Given the description of an element on the screen output the (x, y) to click on. 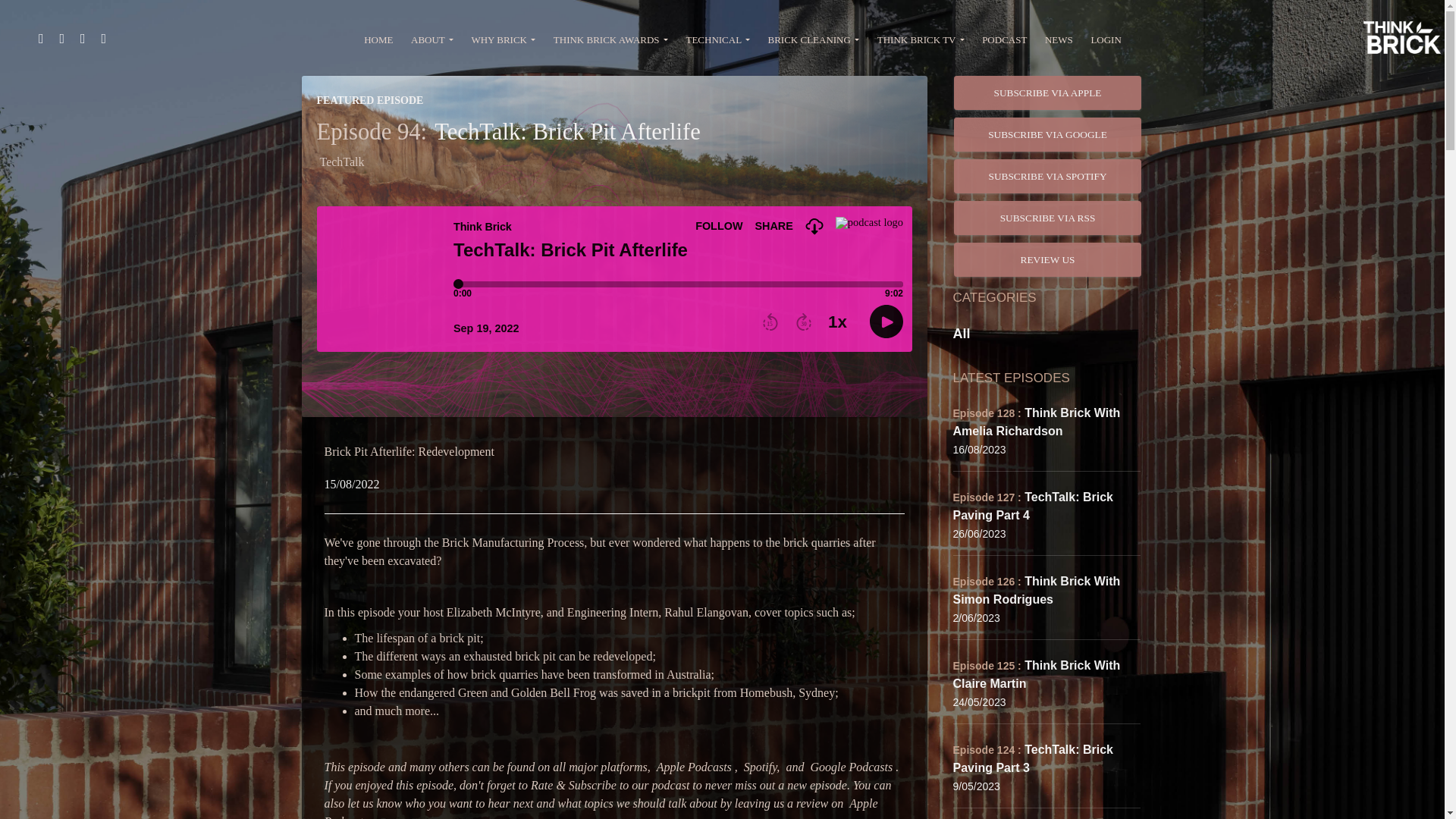
THINK BRICK TV (919, 40)
BRICK CLEANING (812, 40)
Embed Player (614, 279)
WHY BRICK (503, 40)
THINK BRICK AWARDS (610, 40)
ABOUT (431, 40)
TECHNICAL (717, 40)
HOME (378, 40)
